Given the description of an element on the screen output the (x, y) to click on. 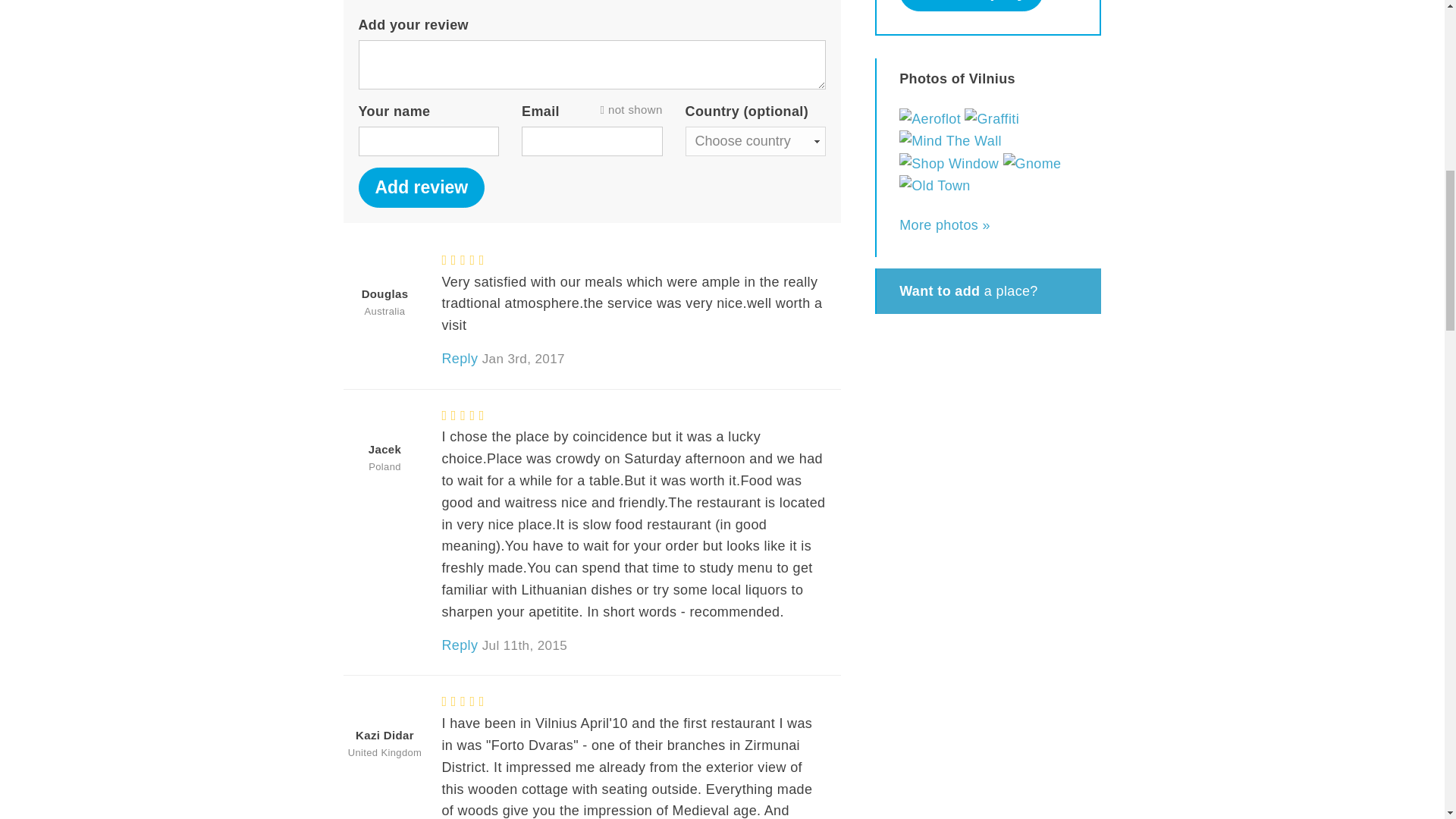
Send enquiry (971, 5)
Add review (421, 187)
Reply (459, 358)
Reply (459, 645)
Add review (421, 187)
Send enquiry (971, 5)
